Given the description of an element on the screen output the (x, y) to click on. 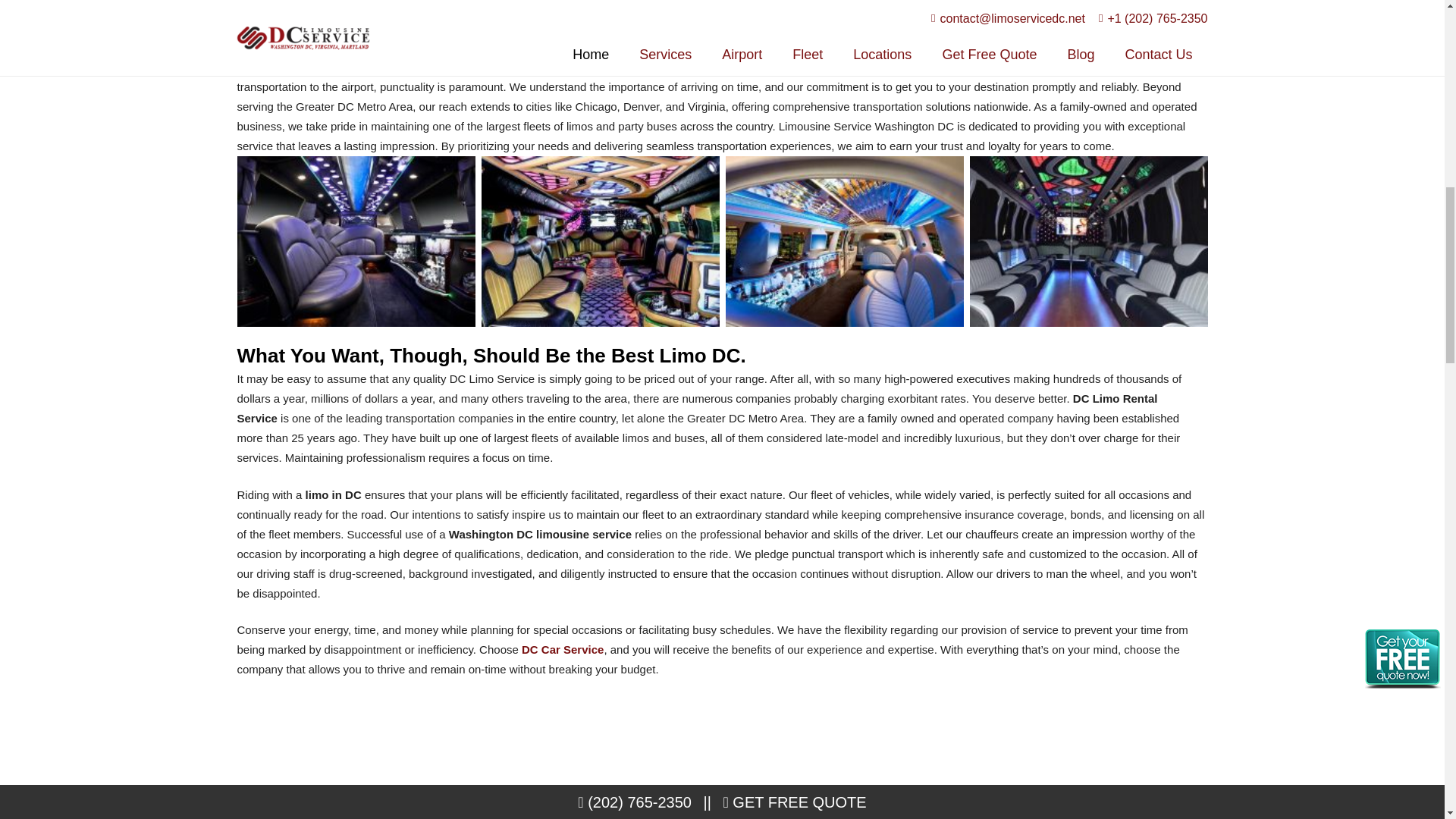
Back to top (1413, 26)
Washington DC Limousine Services (599, 241)
Washington DC Limousines (1088, 241)
Washington DC Limousine Service (843, 241)
Limousines DC (354, 241)
